Given the description of an element on the screen output the (x, y) to click on. 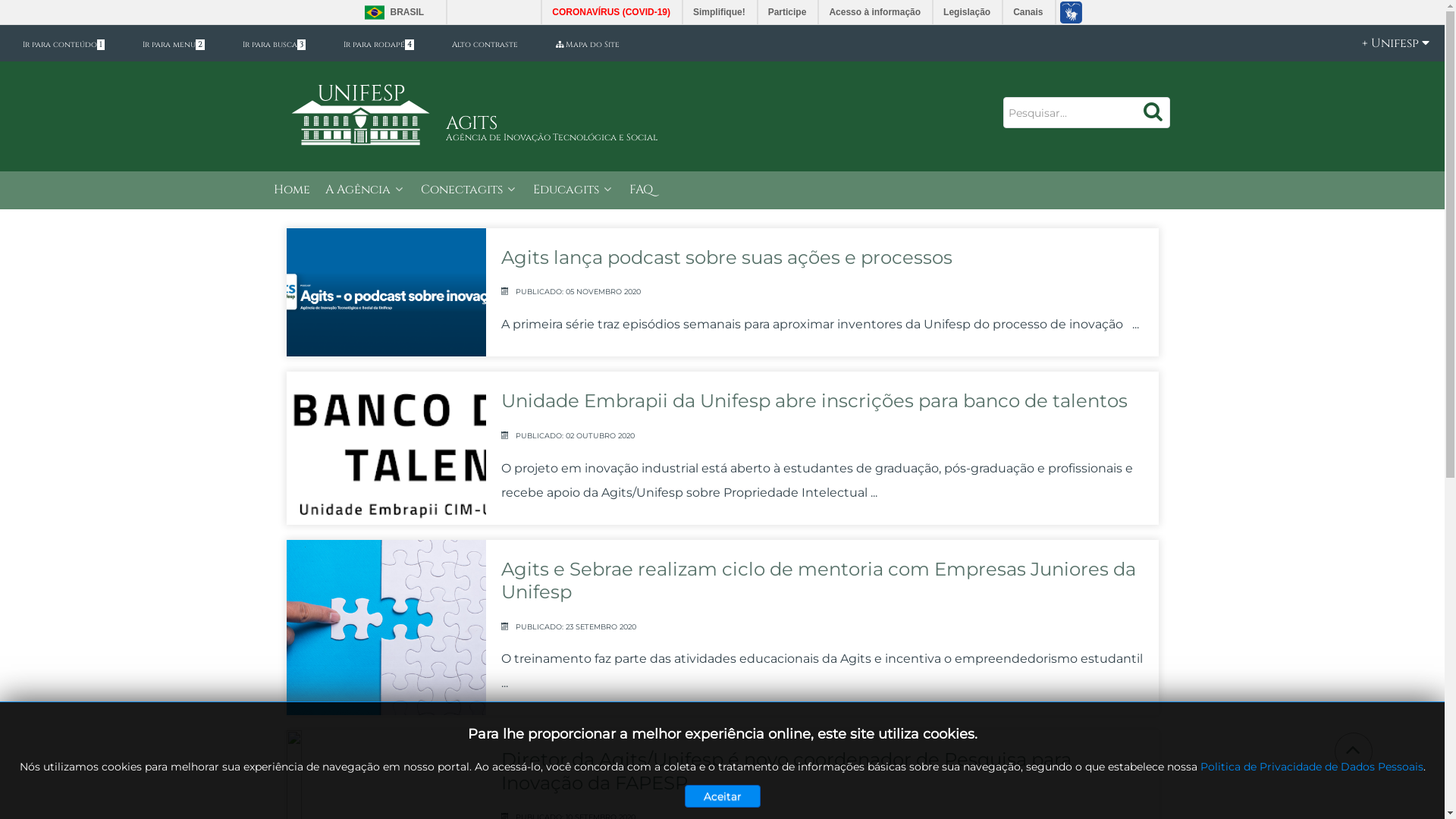
Simplifique! Element type: text (719, 11)
on Element type: text (4, 4)
Conectagits Element type: text (468, 190)
Politica de Privacidade de Dados Pessoais Element type: text (1310, 766)
Mapa do Site Element type: text (587, 44)
Educagits Element type: text (572, 190)
Canais Element type: text (1028, 11)
BRASIL Element type: text (389, 12)
+ Unifesp Element type: text (1387, 43)
Alto contraste Element type: text (484, 44)
Participe Element type: text (788, 11)
Home Element type: text (291, 190)
FAQ Element type: text (640, 190)
Ir para menu2 Element type: text (173, 44)
Ir para busca3 Element type: text (273, 44)
